Given the description of an element on the screen output the (x, y) to click on. 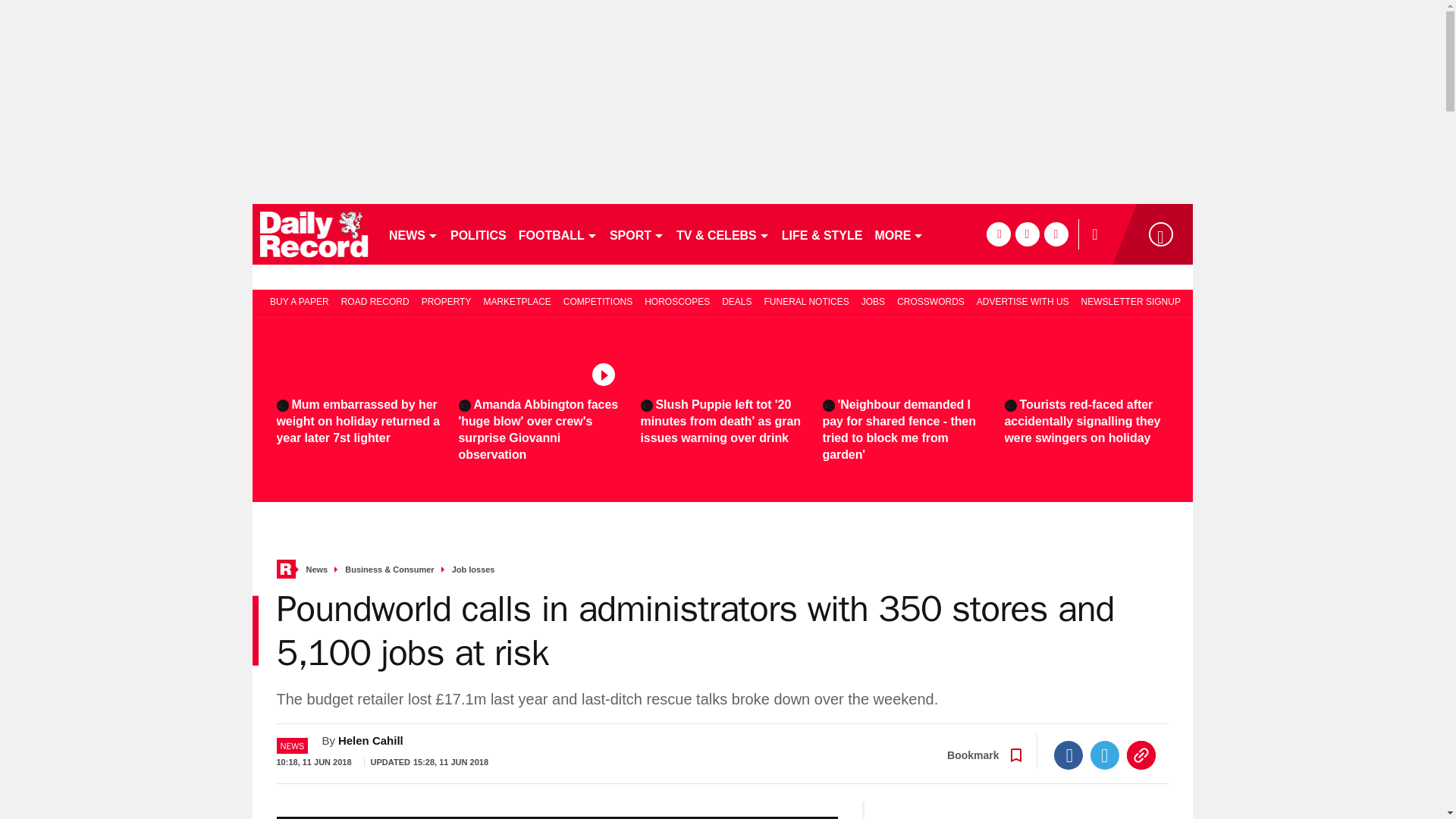
twitter (1026, 233)
instagram (1055, 233)
POLITICS (478, 233)
dailyrecord (313, 233)
NEWS (413, 233)
SPORT (636, 233)
Facebook (1068, 755)
FOOTBALL (558, 233)
facebook (997, 233)
Twitter (1104, 755)
